Given the description of an element on the screen output the (x, y) to click on. 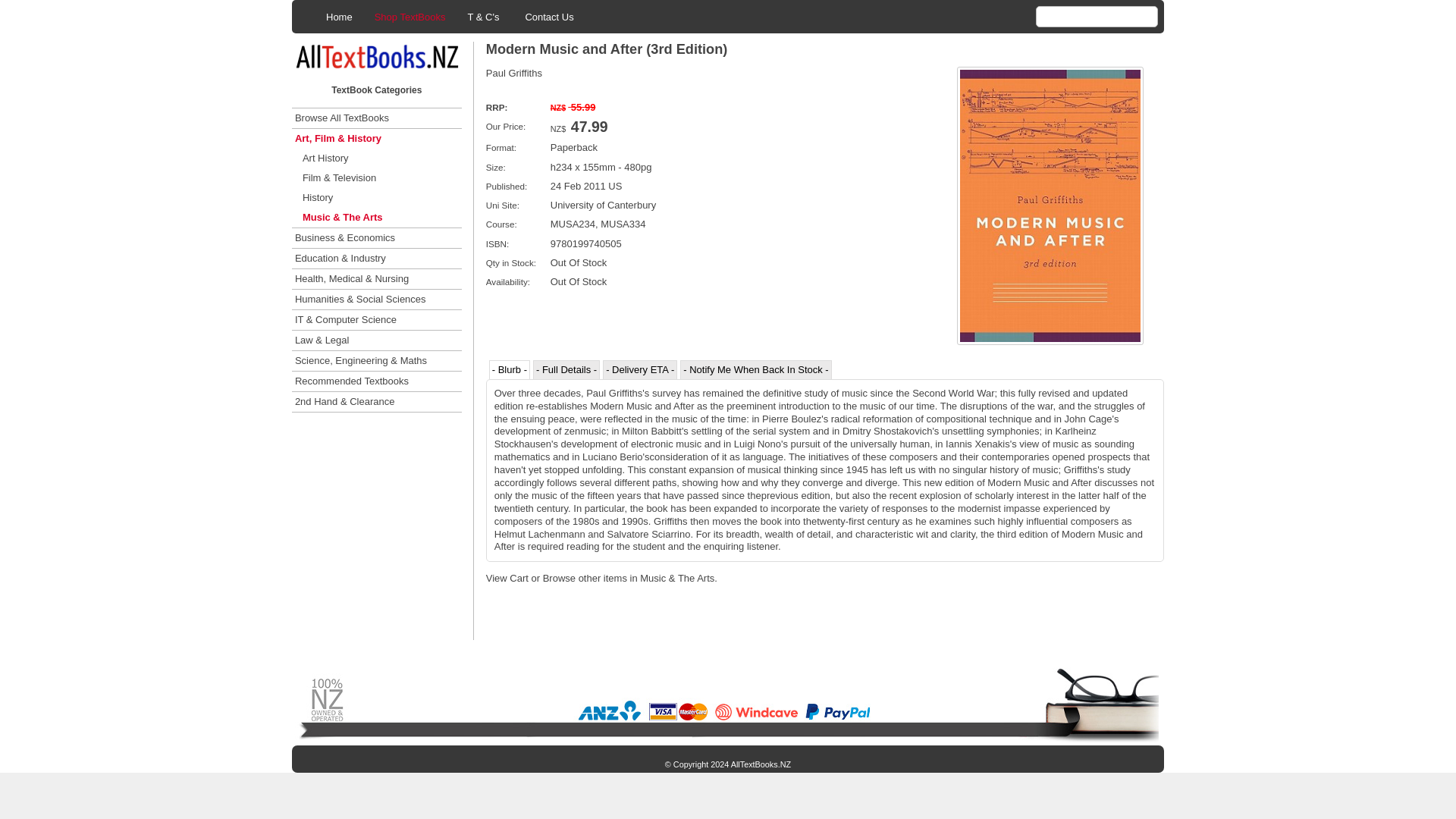
AllBooks.NZ (726, 701)
Shop TextBooks (409, 17)
Home (339, 17)
